Given the description of an element on the screen output the (x, y) to click on. 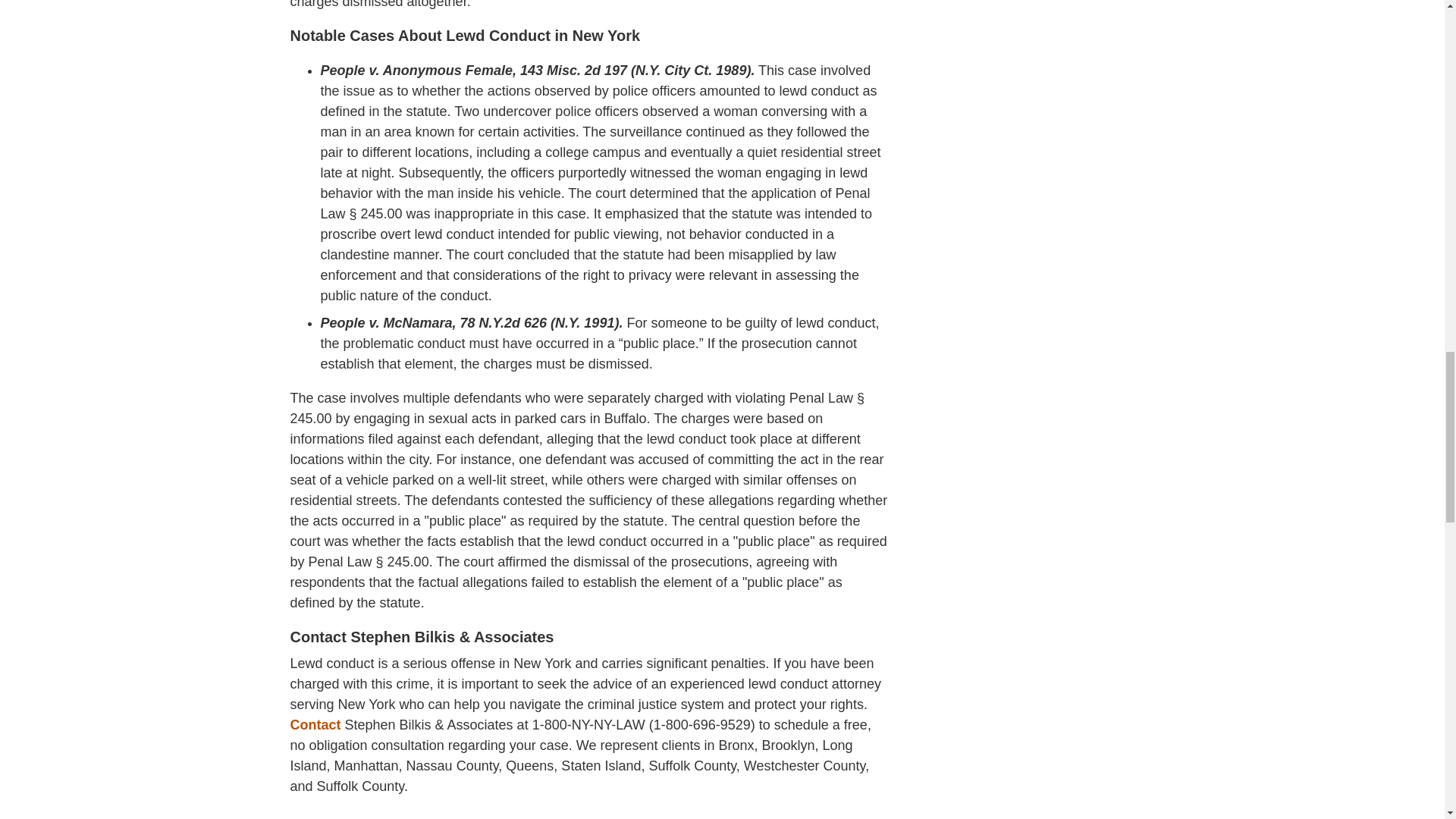
Contact (314, 724)
